Given the description of an element on the screen output the (x, y) to click on. 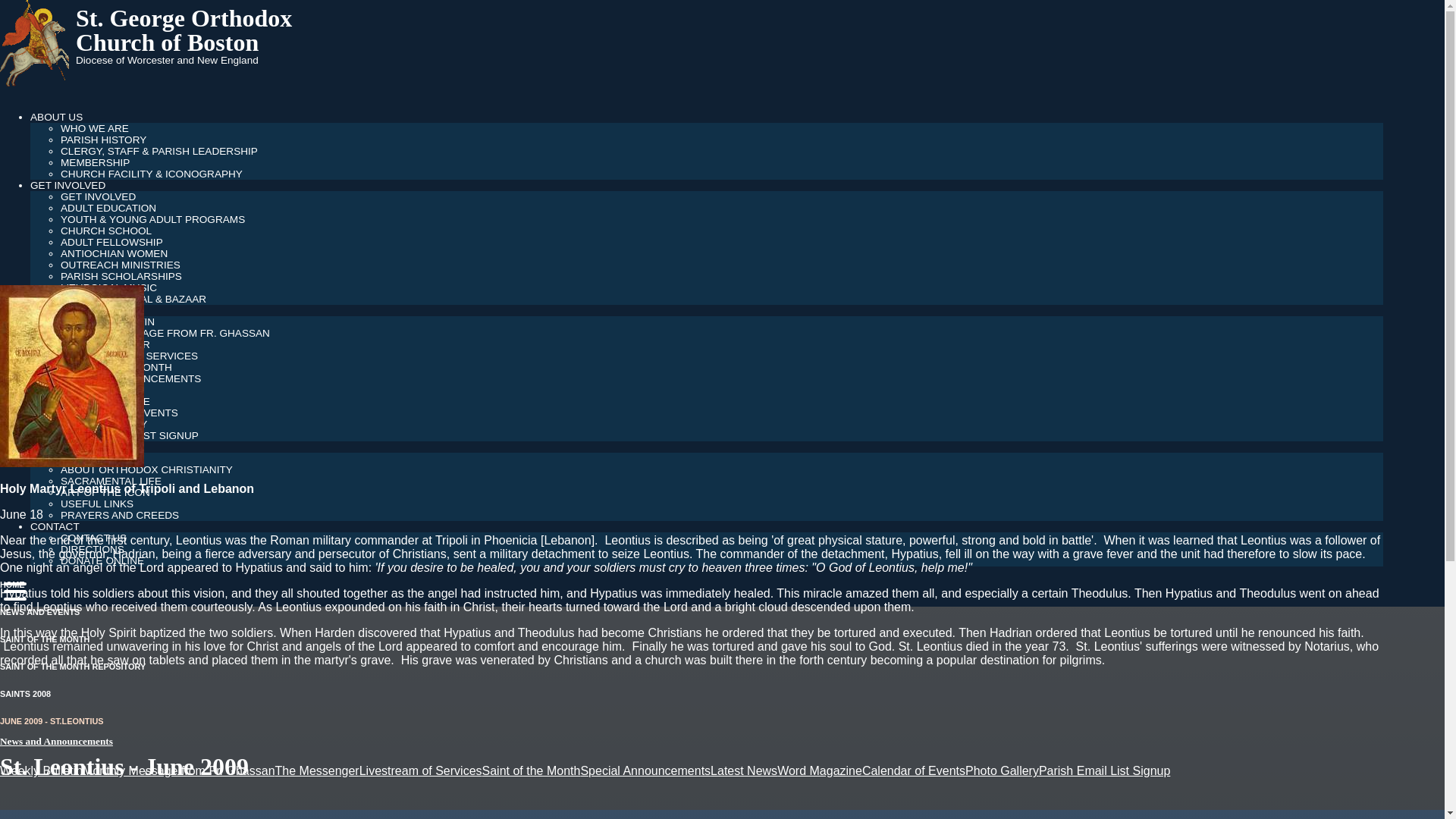
Get Involved (67, 184)
News and Events (79, 310)
Our Faith (57, 446)
The Messenger (317, 770)
Weekly Bulletin (41, 770)
Contact (55, 526)
News and Events (40, 611)
Saint of the Month (44, 638)
Special Announcements (644, 770)
Saints 2008 (25, 693)
Livestream of Services (420, 770)
About Us (56, 116)
Monthly Message from Fr. Ghassan (178, 770)
Saint of the Month Repository (72, 665)
Saint of the Month (530, 770)
